Given the description of an element on the screen output the (x, y) to click on. 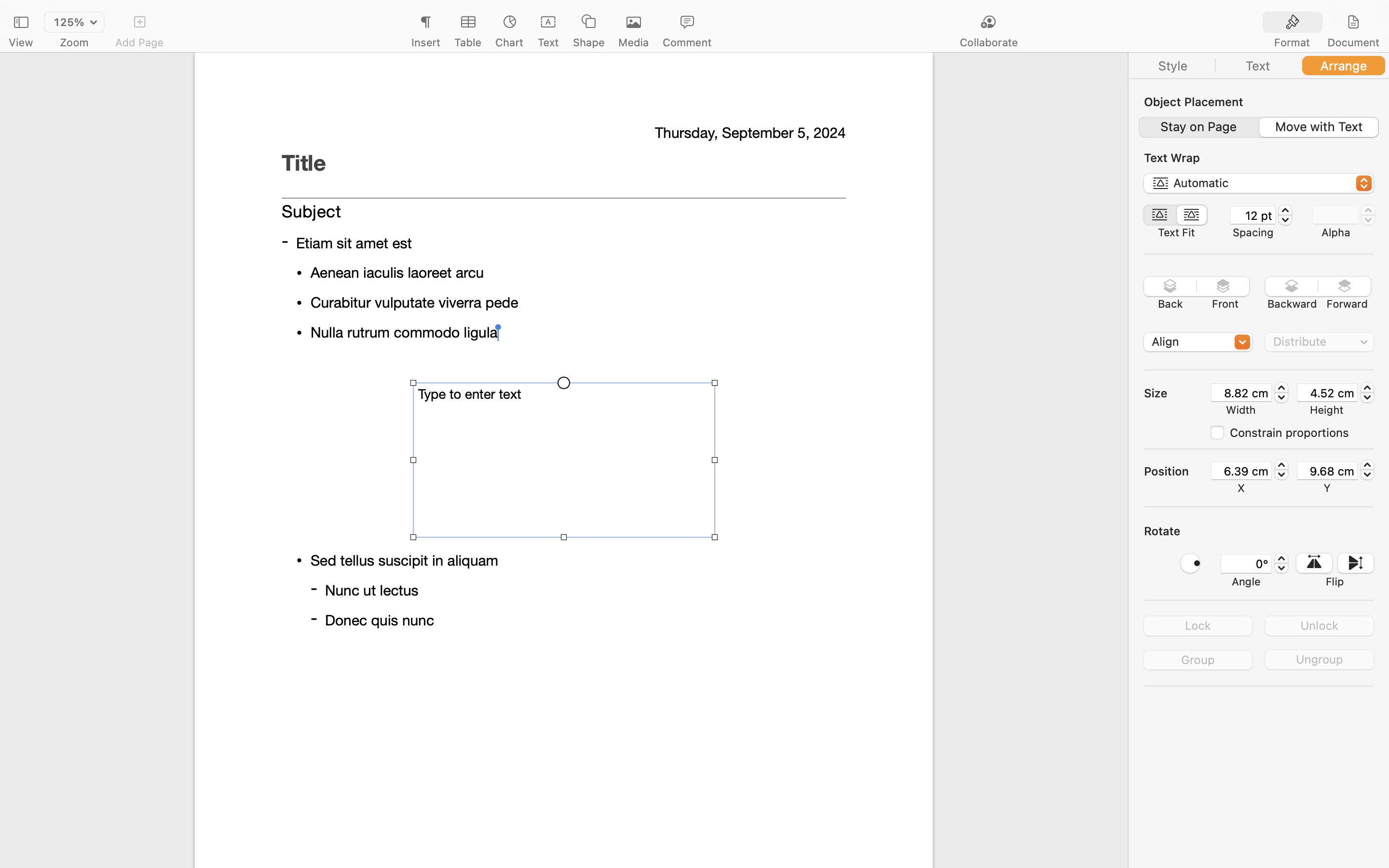
<AXUIElement 0x2a7a238e0> {pid=1482} Element type: AXRadioGroup (1258, 126)
90.0 Element type: AXSlider (1189, 562)
12 pt Element type: AXTextField (1252, 214)
